Given the description of an element on the screen output the (x, y) to click on. 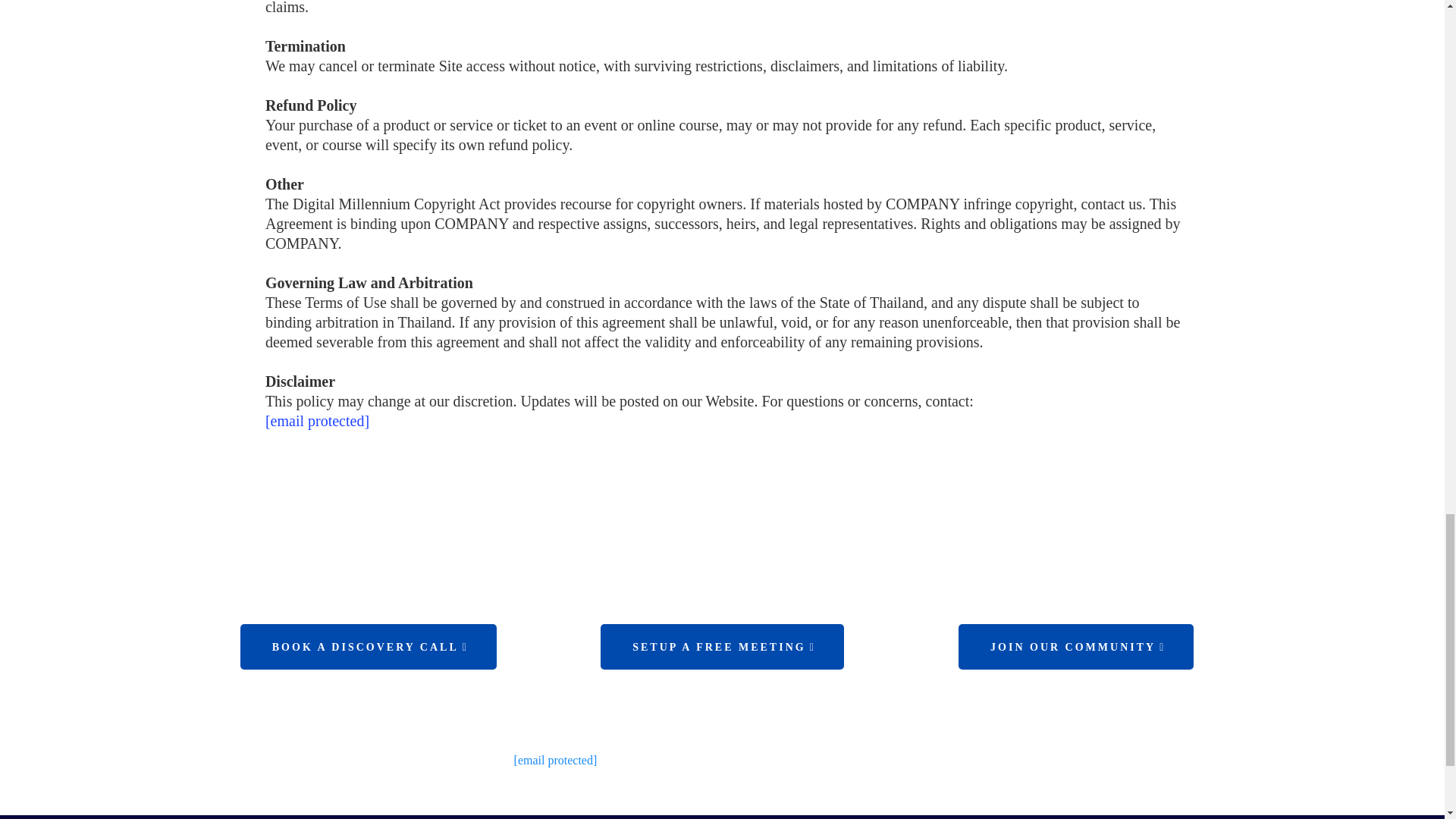
BOOK A DISCOVERY CALL (368, 646)
SETUP A FREE MEETING (721, 646)
JOIN OUR COMMUNITY (1075, 646)
